Given the description of an element on the screen output the (x, y) to click on. 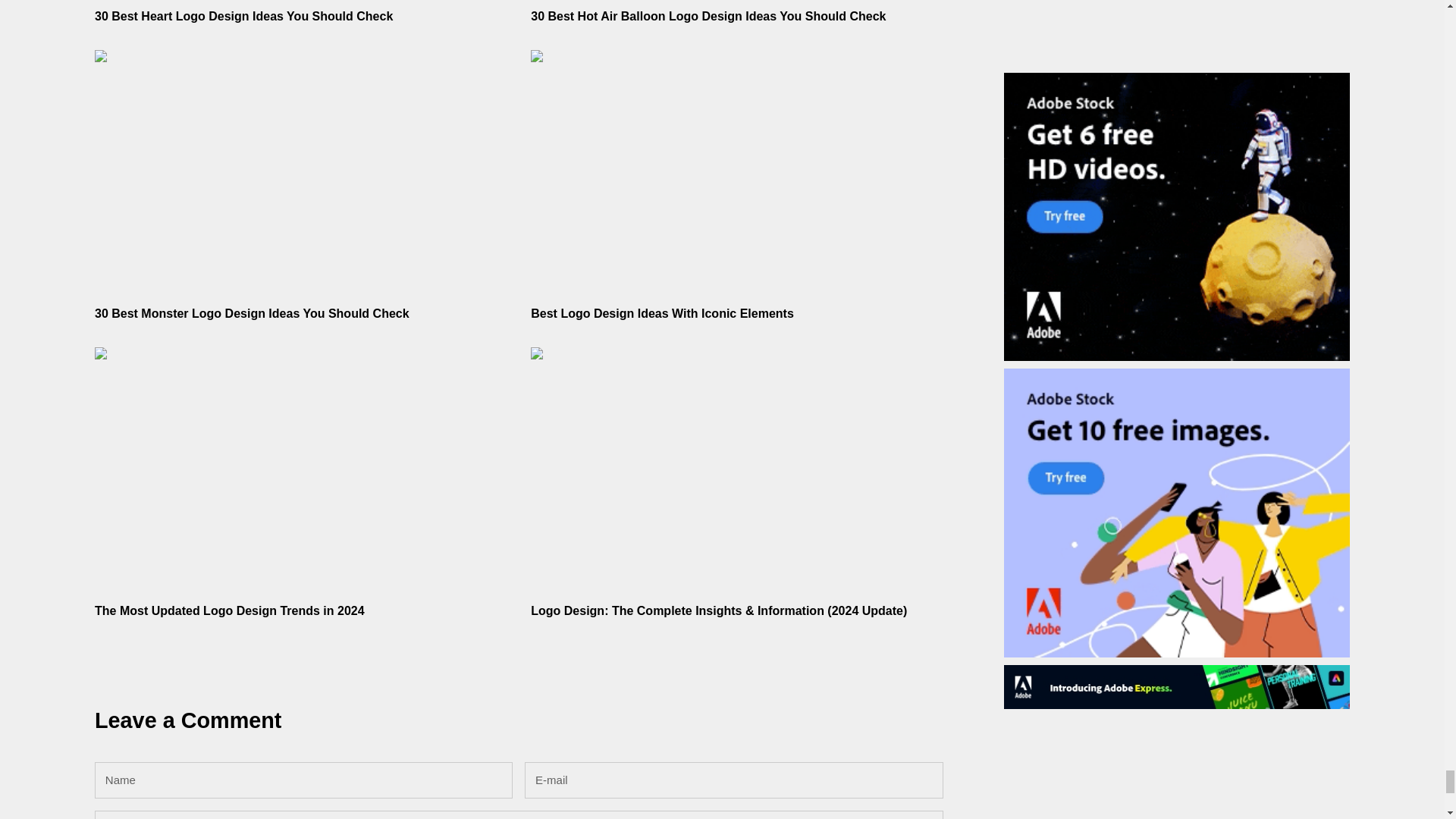
30 Best Heart Logo Design Ideas You Should Check (243, 15)
30 Best Monster Logo Design Ideas You Should Check (251, 313)
30 Best Hot Air Balloon Logo Design Ideas You Should Check (708, 15)
